Given the description of an element on the screen output the (x, y) to click on. 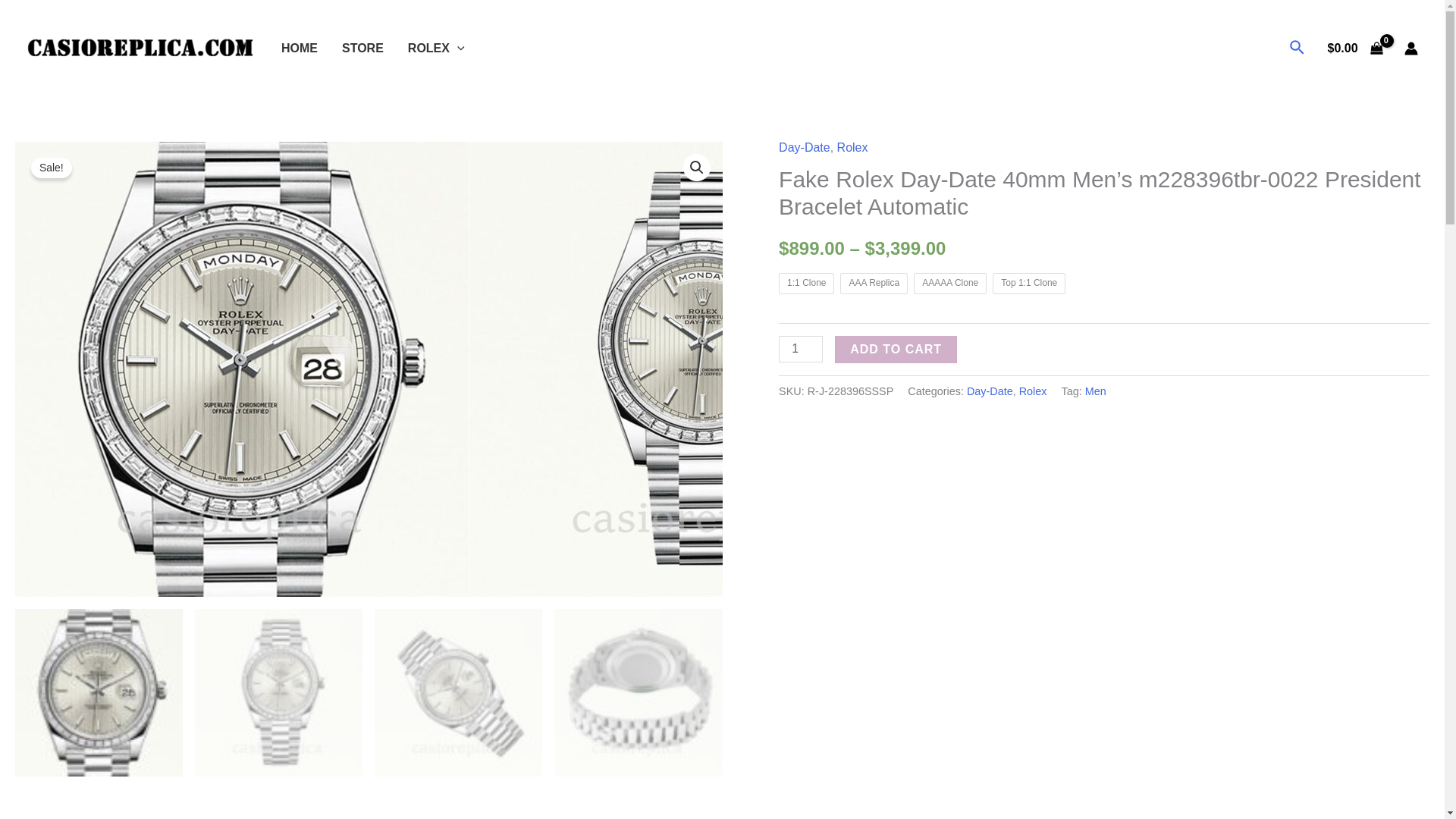
Day-Date (989, 390)
HOME (299, 47)
STORE (363, 47)
ADD TO CART (895, 349)
Qty (800, 348)
ROLEX (436, 47)
Day-Date (803, 146)
Rolex (852, 146)
1 (800, 348)
